Given the description of an element on the screen output the (x, y) to click on. 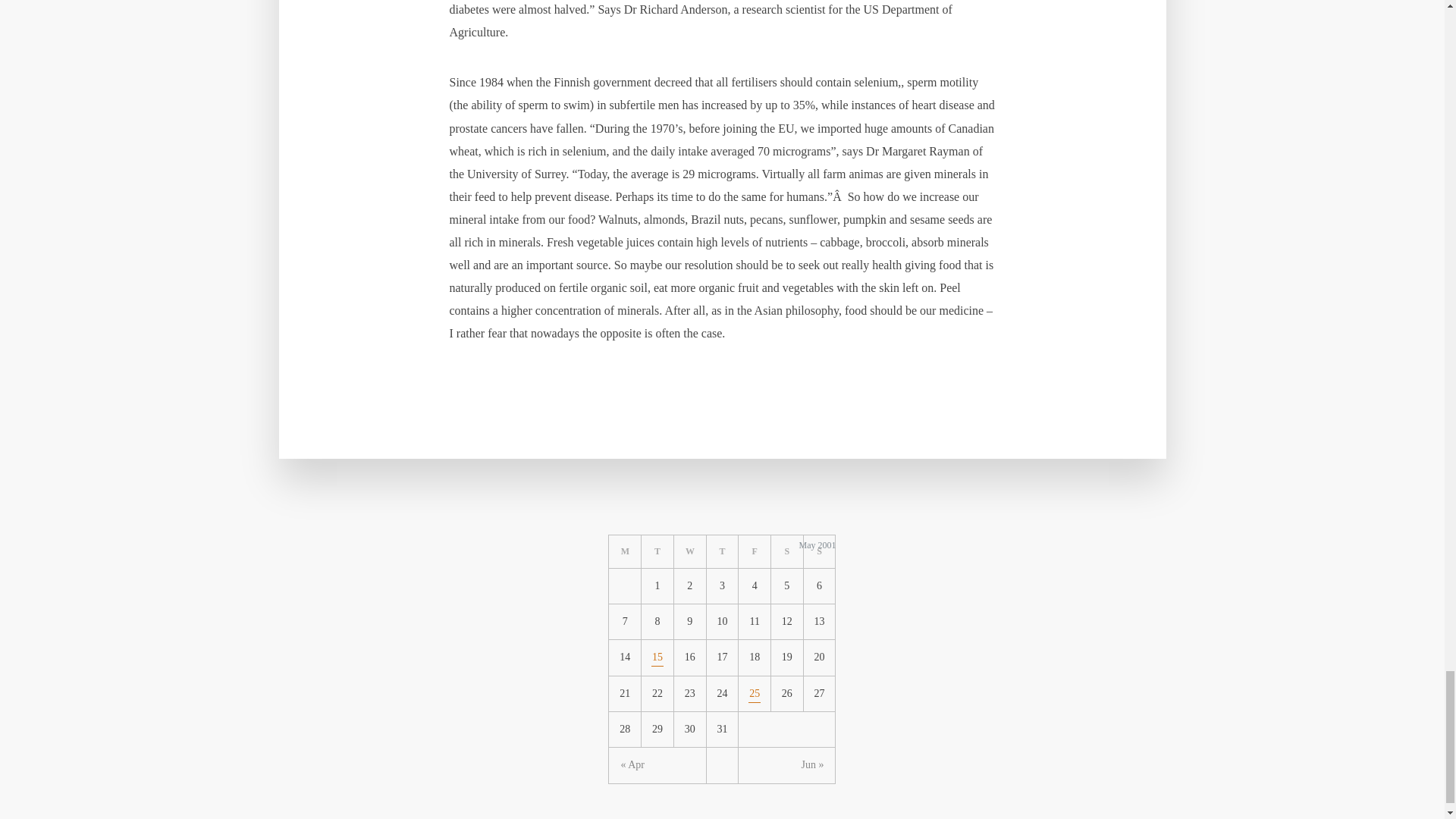
Saturday (787, 551)
Friday (754, 551)
Tuesday (658, 551)
Monday (625, 551)
Thursday (722, 551)
Sunday (819, 551)
Wednesday (690, 551)
